Given the description of an element on the screen output the (x, y) to click on. 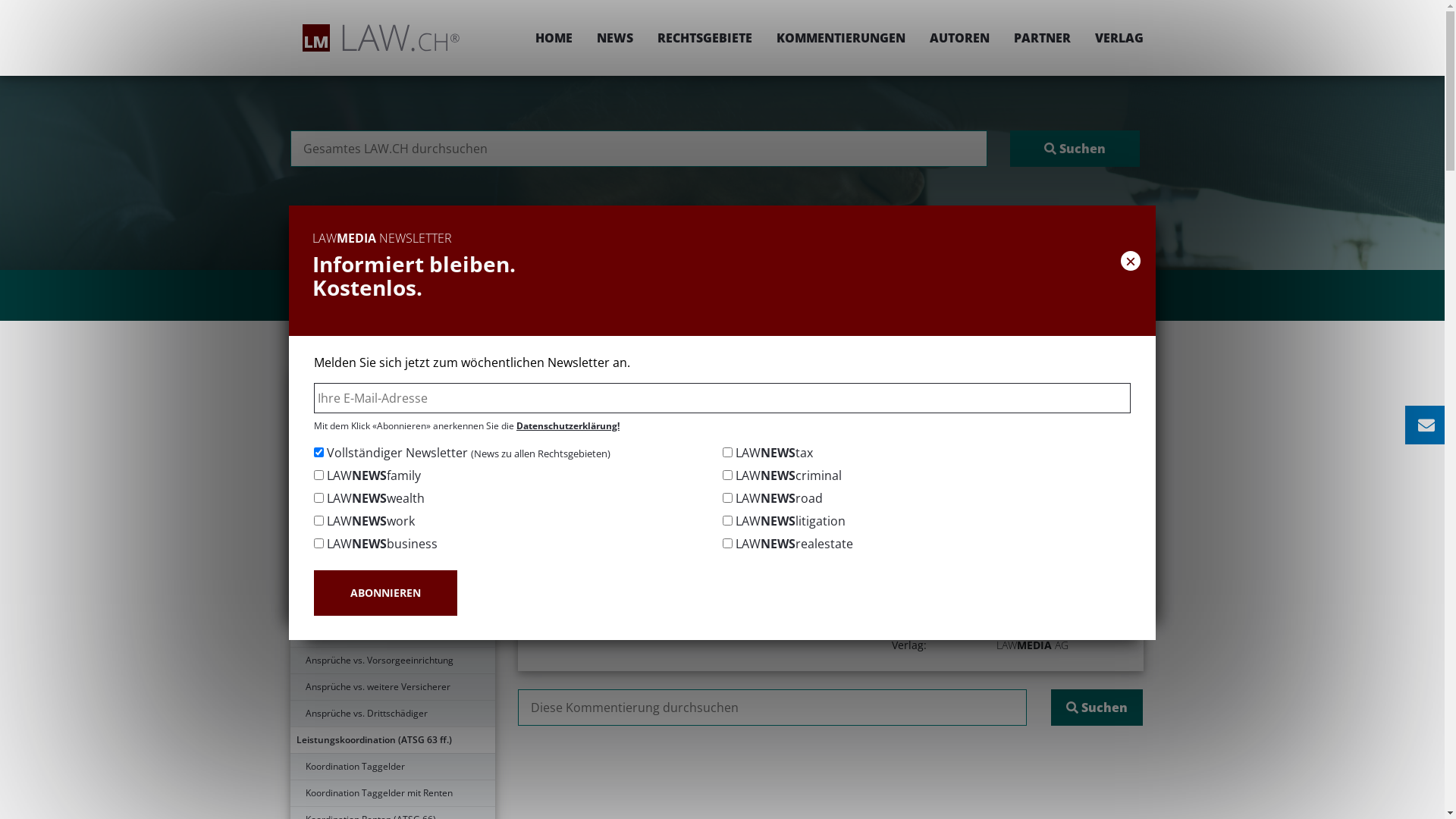
Rechtsgebiete Element type: text (697, 375)
ABONNIEREN Element type: text (385, 592)
Einleitung zu Arbeitsunfall / Berufsunfall Element type: text (391, 381)
 DRUCKEN / PDF Element type: text (1095, 426)
Koordination Taggelder Element type: text (391, 766)
RECHTSGEBIETE Element type: text (703, 37)
 TEILEN Element type: text (989, 426)
Suchen nach: Element type: hover (637, 148)
Leistungskoordination (ATSG 63 ff.) Element type: text (391, 740)
AUTOREN Element type: text (959, 37)
Voraussetzungen Element type: text (391, 460)
Inhaltsverzeichnis Element type: text (391, 407)
Gesetzliche Grundlagen Element type: text (391, 434)
PARTNER Element type: text (1041, 37)
VERLAG Element type: text (1112, 37)
Home Element type: text (628, 375)
KOMMENTIERUNGEN Element type: text (840, 37)
HOME Element type: text (553, 37)
Koordination Taggelder mit Renten Element type: text (391, 793)
NEWS Element type: text (613, 37)
Suchen nach: Element type: hover (771, 707)
